Given the description of an element on the screen output the (x, y) to click on. 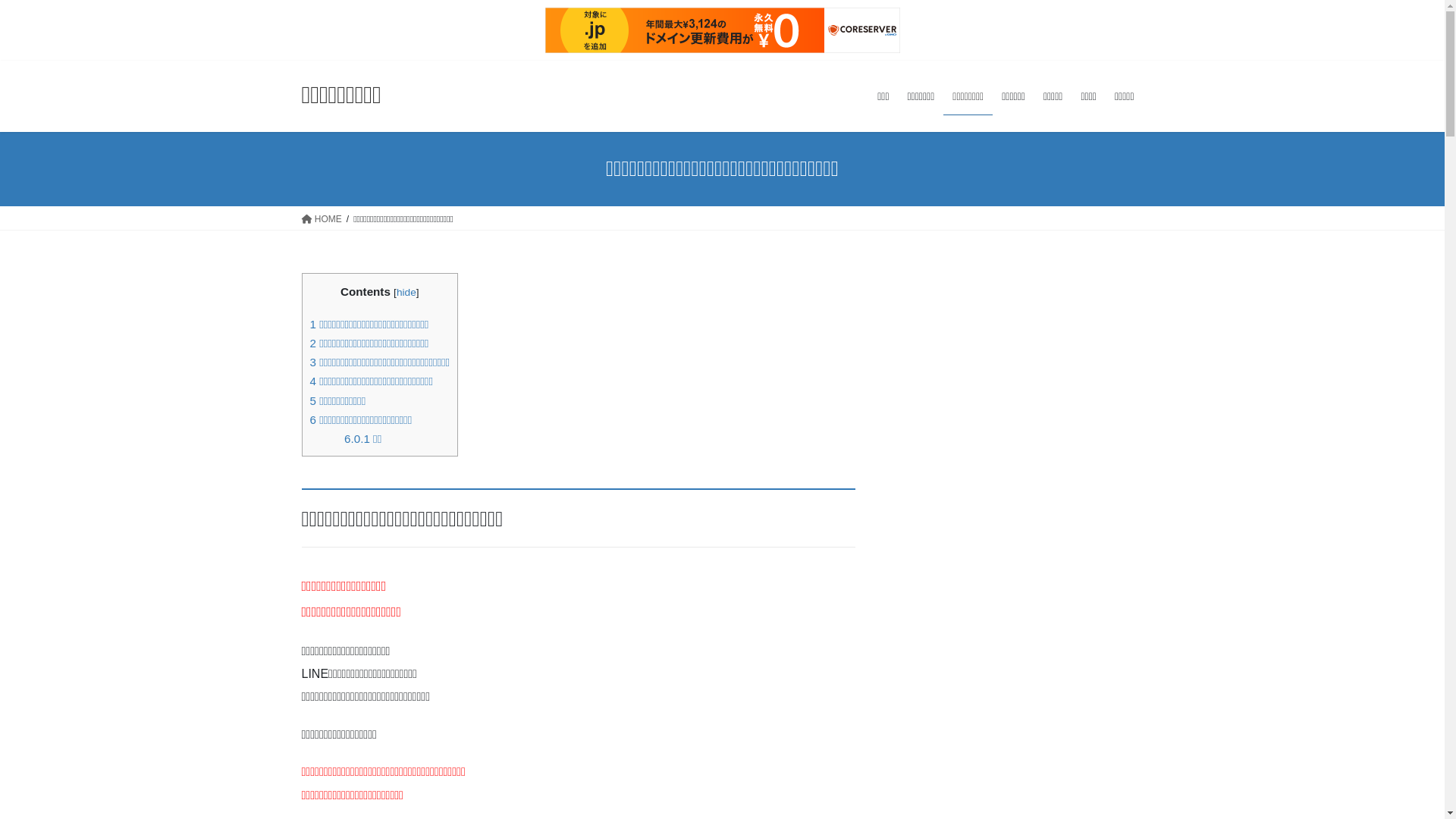
hide Element type: text (406, 292)
HOME Element type: text (321, 218)
